Given the description of an element on the screen output the (x, y) to click on. 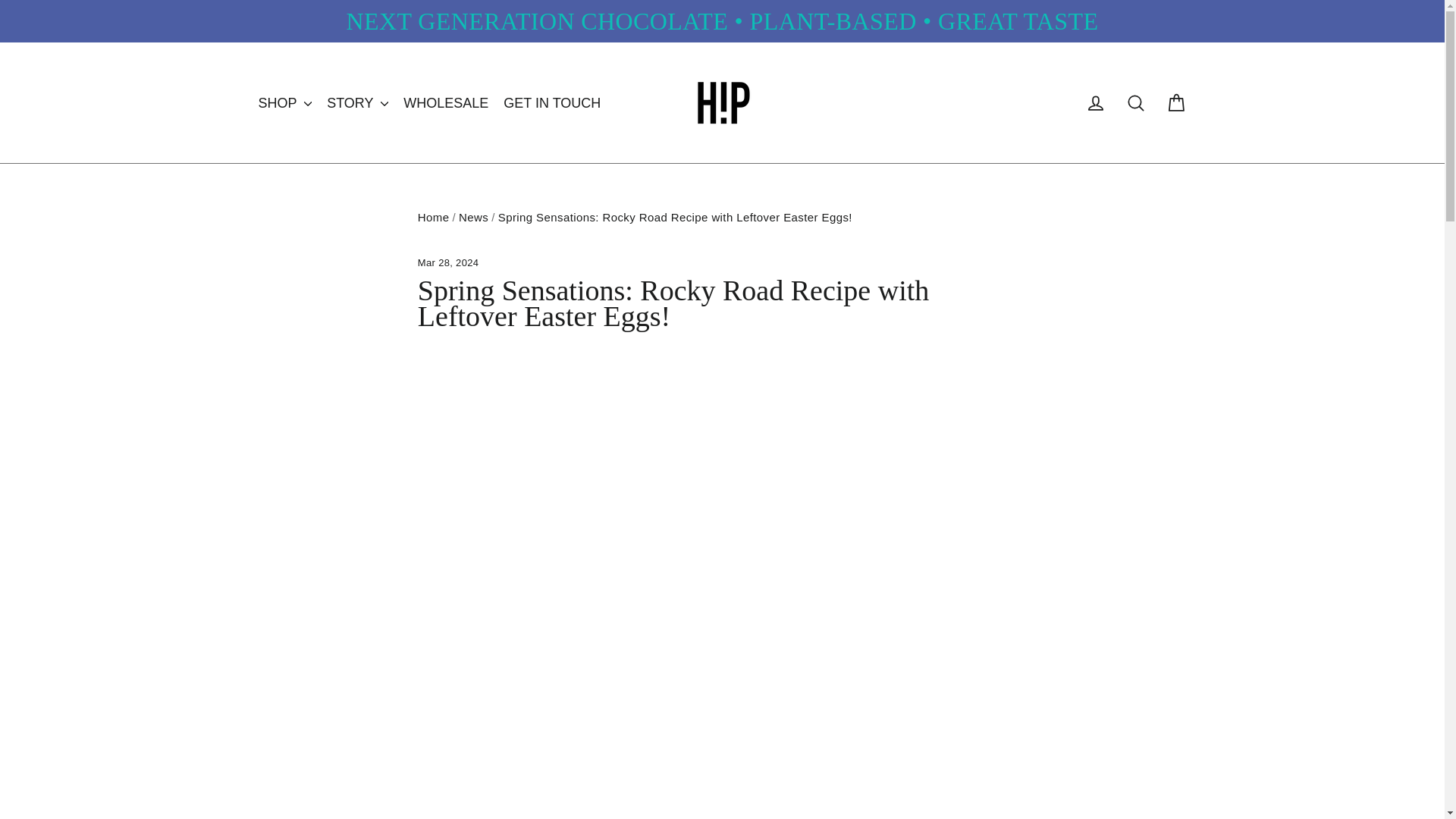
Back to the frontpage (433, 216)
SHOP (284, 102)
